Given the description of an element on the screen output the (x, y) to click on. 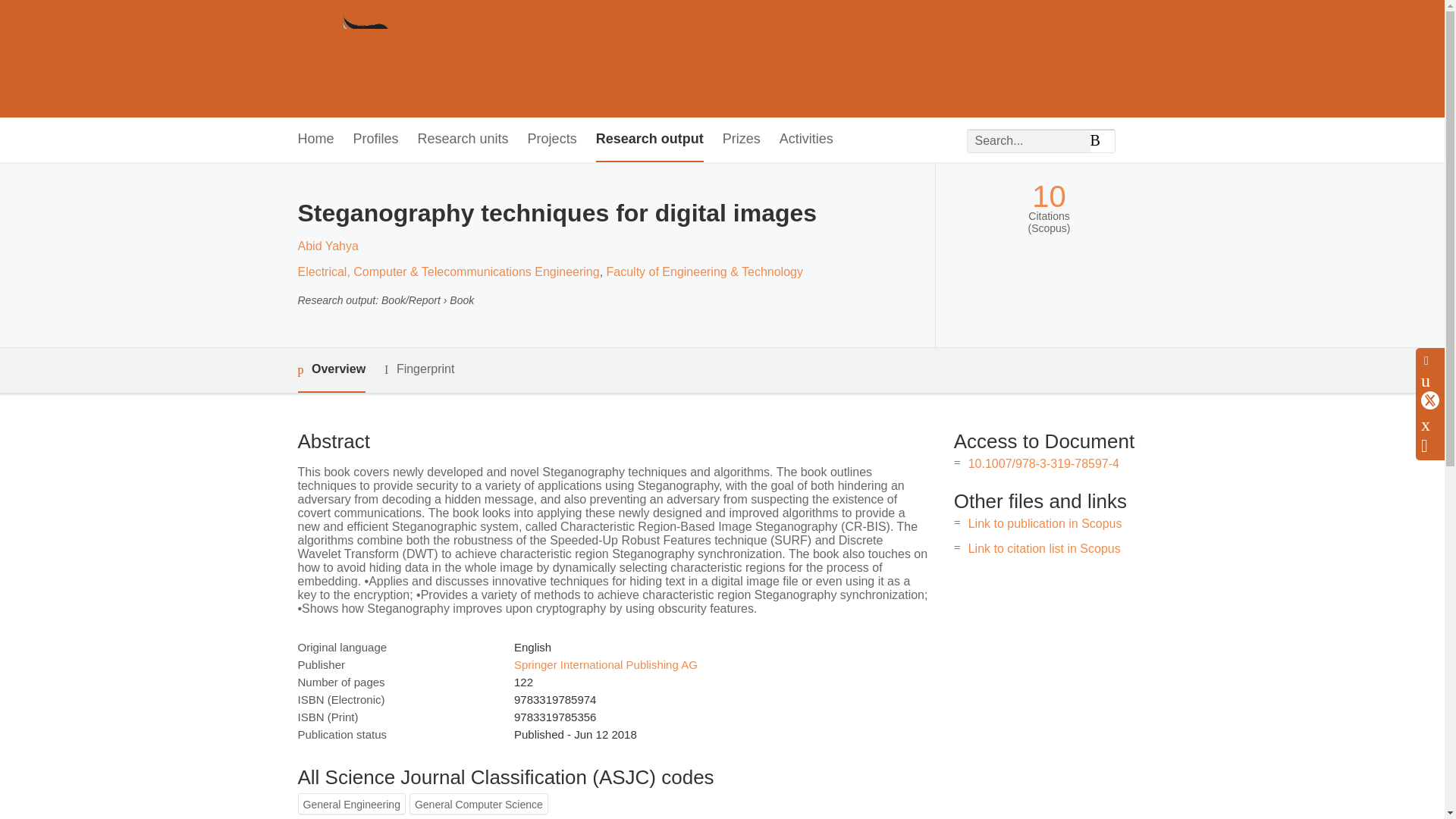
Projects (551, 139)
Link to citation list in Scopus (1044, 548)
Link to publication in Scopus (1045, 522)
Research output (649, 139)
Profiles (375, 139)
Activities (805, 139)
Springer International Publishing AG (605, 664)
Overview (331, 370)
Research units (462, 139)
Abid Yahya (327, 245)
10 (1048, 196)
Fingerprint (419, 369)
